Given the description of an element on the screen output the (x, y) to click on. 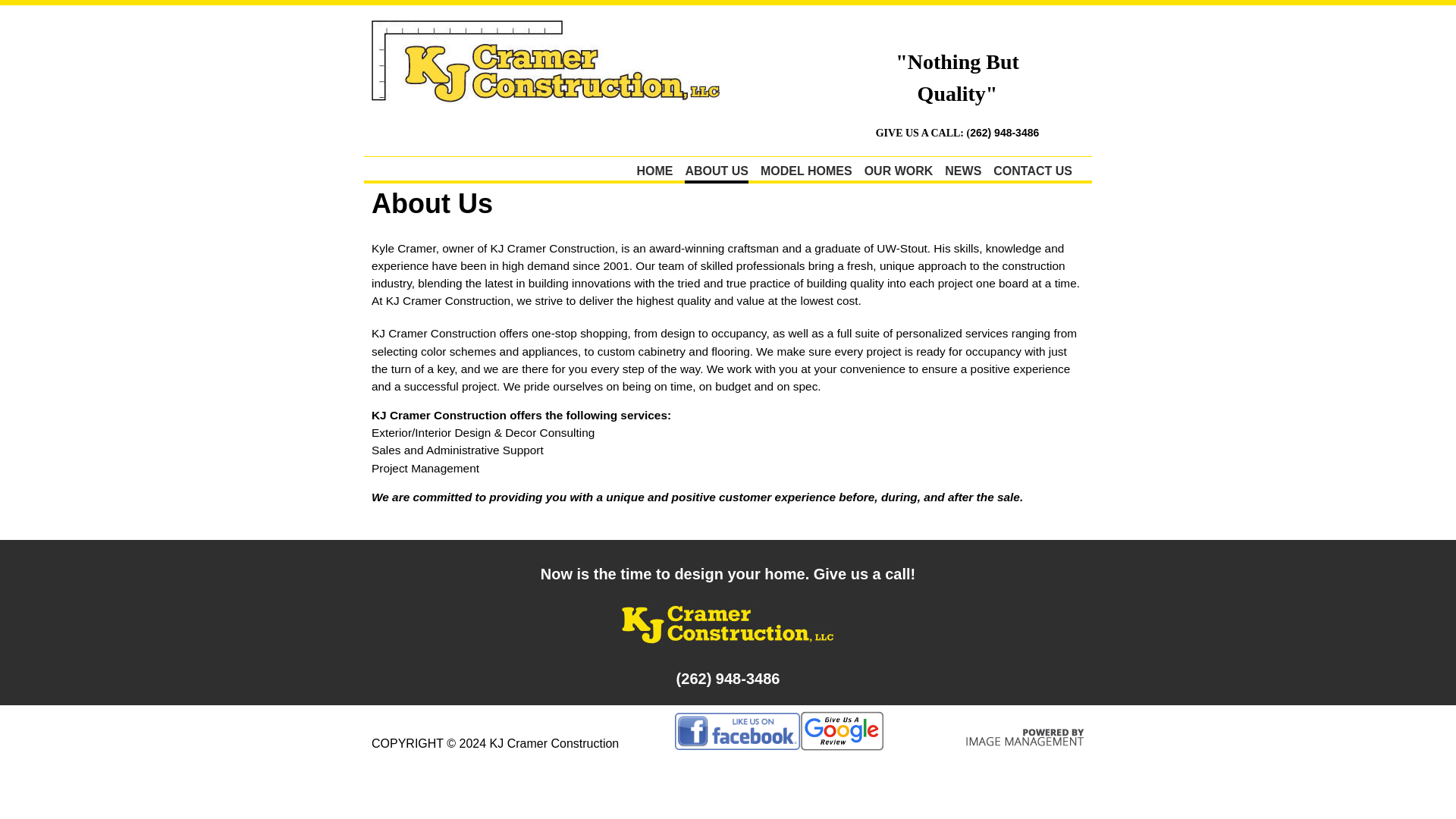
MODEL HOMES (805, 171)
HOME (654, 171)
NEWS (962, 171)
ABOUT US (716, 172)
OUR WORK (898, 171)
CONTACT US (1031, 171)
